Given the description of an element on the screen output the (x, y) to click on. 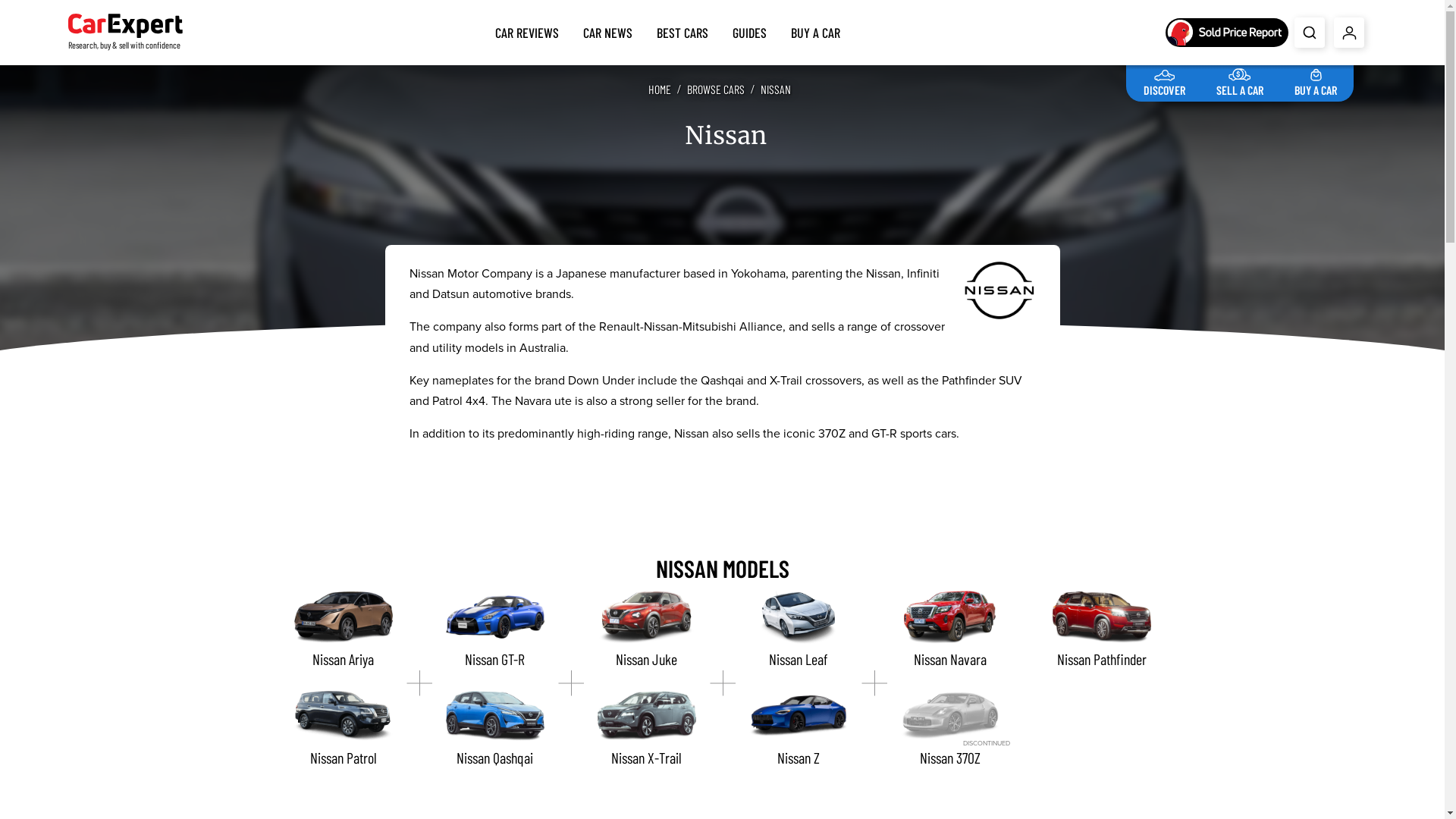
BUY A CAR Element type: text (1315, 80)
Nissan Navara Element type: text (949, 629)
CAR NEWS Element type: text (607, 29)
Nissan Ariya Element type: text (342, 629)
GUIDES Element type: text (749, 29)
BUY A CAR Element type: text (815, 29)
DISCOVER Element type: text (1164, 80)
Nissan Z Element type: text (797, 728)
Nissan GT-R Element type: text (494, 629)
CAR REVIEWS Element type: text (526, 29)
Nissan Patrol Element type: text (342, 728)
Submit Element type: hover (1309, 32)
BROWSE CARS Element type: text (715, 89)
DISCONTINUED
Nissan 370Z Element type: text (949, 728)
HOME Element type: text (658, 89)
BEST CARS Element type: text (682, 29)
Nissan Pathfinder Element type: text (1100, 629)
Nissan Juke Element type: text (645, 629)
Nissan Qashqai Element type: text (494, 728)
Nissan Leaf Element type: text (797, 629)
SELL A CAR Element type: text (1239, 80)
Nissan X-Trail Element type: text (645, 728)
